Given the description of an element on the screen output the (x, y) to click on. 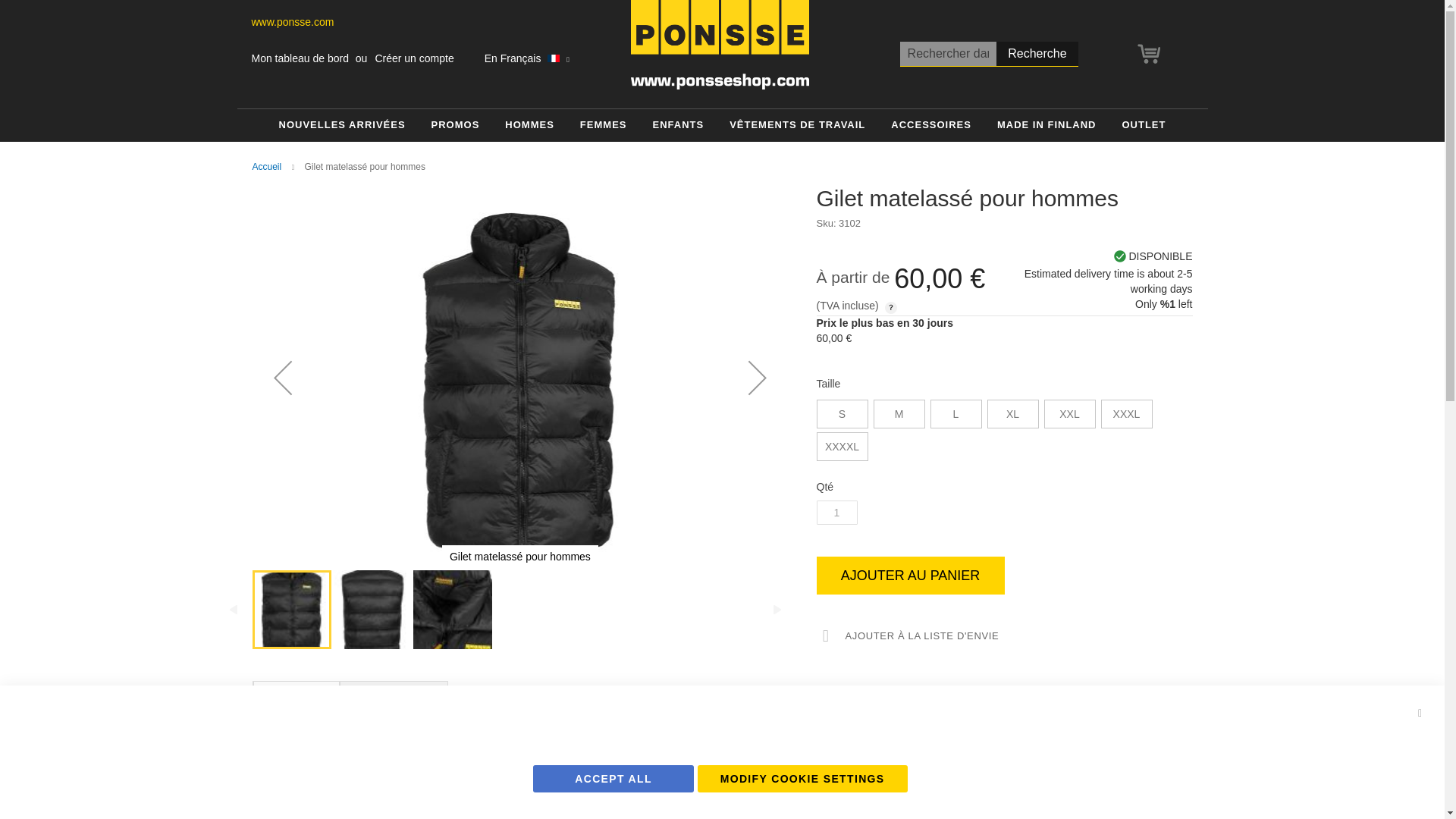
Ajouter au panier (909, 575)
www.ponsse.com (292, 22)
Recherche (1036, 53)
PROMOS (455, 124)
1 (836, 512)
Recherche (1036, 53)
Accueil (266, 166)
ACCESSOIRES (930, 124)
HOMMES (529, 124)
Magento Commerce (719, 44)
AJOUTER AU PANIER (909, 575)
Recherche (1036, 53)
MADE IN FINLAND (1046, 124)
Mon panier (1148, 54)
ENFANTS (678, 124)
